Given the description of an element on the screen output the (x, y) to click on. 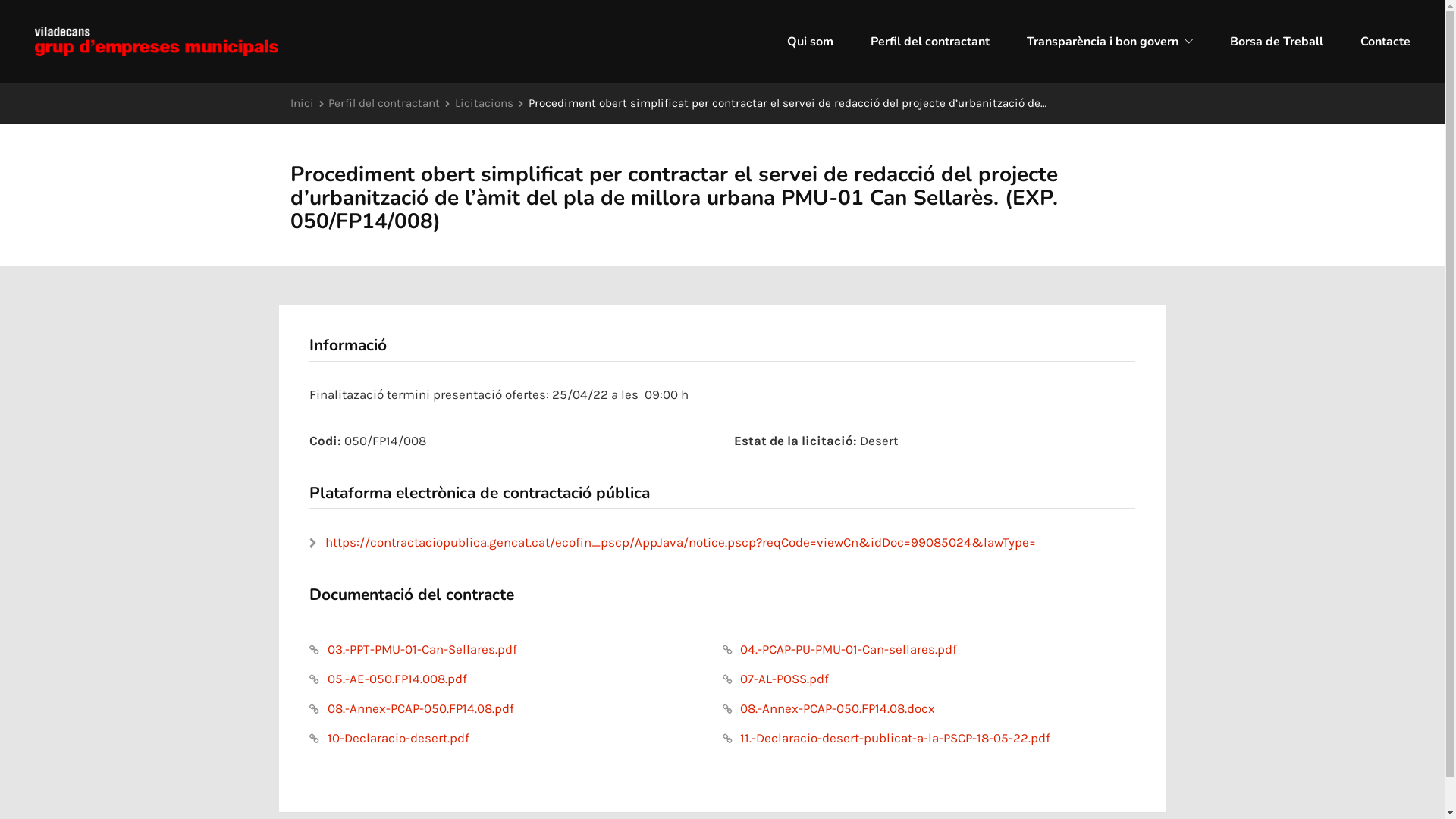
08.-Annex-PCAP-050.FP14.08.pdf Element type: text (411, 707)
Qui som Element type: text (810, 41)
Perfil del contractant Element type: text (929, 41)
11.-Declaracio-desert-publicat-a-la-PSCP-18-05-22.pdf Element type: text (885, 737)
Contacte Element type: text (1385, 41)
03.-PPT-PMU-01-Can-Sellares.pdf Element type: text (413, 648)
05.-AE-050.FP14.008.pdf Element type: text (388, 678)
07-AL-POSS.pdf Element type: text (774, 678)
04.-PCAP-PU-PMU-01-Can-sellares.pdf Element type: text (839, 648)
08.-Annex-PCAP-050.FP14.08.docx Element type: text (828, 707)
Perfil del contractant Element type: text (383, 103)
Inici Element type: text (301, 103)
10-Declaracio-desert.pdf Element type: text (389, 737)
Borsa de Treball Element type: text (1276, 41)
Licitacions Element type: text (484, 103)
